Given the description of an element on the screen output the (x, y) to click on. 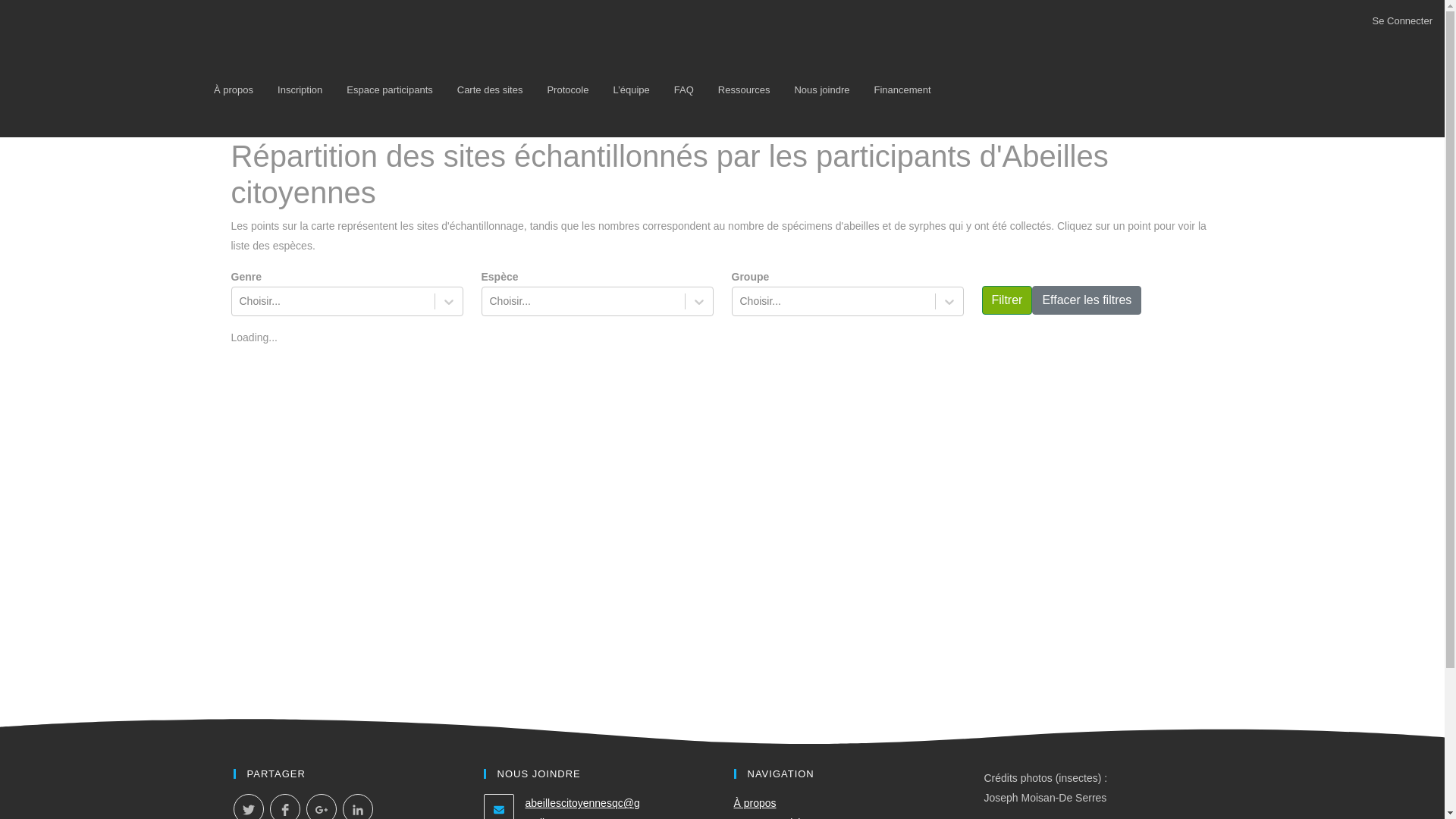
Filtrer Element type: text (1006, 299)
Ressources Element type: text (744, 89)
Inscription Element type: text (299, 89)
Protocole Element type: text (567, 89)
Se Connecter Element type: text (1402, 20)
Carte des sites Element type: text (490, 89)
Nous joindre Element type: text (821, 89)
Financement Element type: text (901, 89)
Effacer les filtres Element type: text (1086, 299)
Espace participants Element type: text (389, 89)
FAQ Element type: text (684, 89)
